Given the description of an element on the screen output the (x, y) to click on. 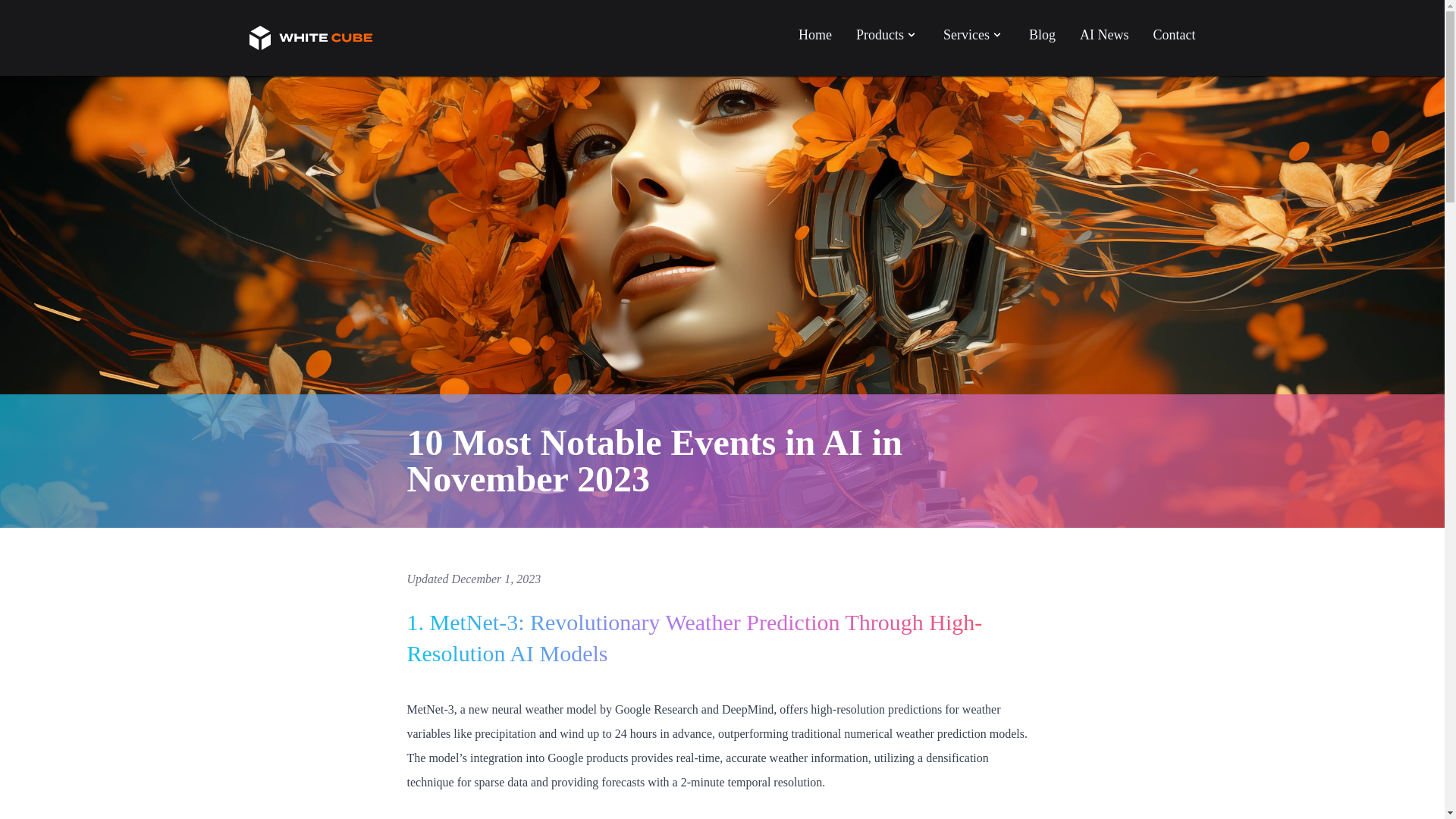
Blog (1042, 34)
AI News (1104, 34)
Home (814, 34)
Contact (1174, 34)
Services (973, 34)
Products (887, 34)
